Given the description of an element on the screen output the (x, y) to click on. 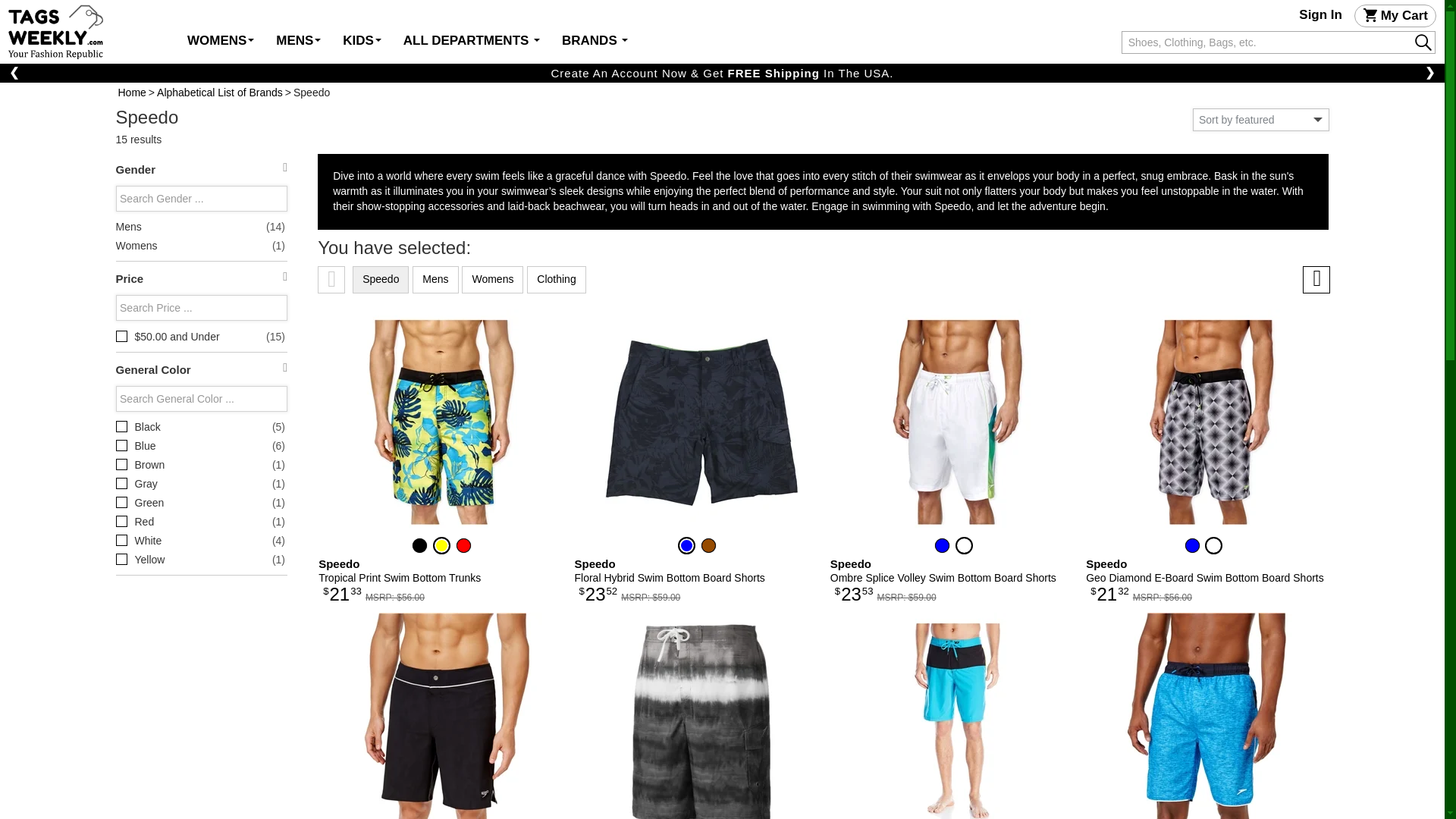
18014 (120, 521)
16800 (120, 426)
18572 (120, 559)
16927 (120, 445)
18656 (120, 482)
17416 (120, 336)
16947 (120, 464)
18234 (120, 540)
18658 (120, 501)
